Given the description of an element on the screen output the (x, y) to click on. 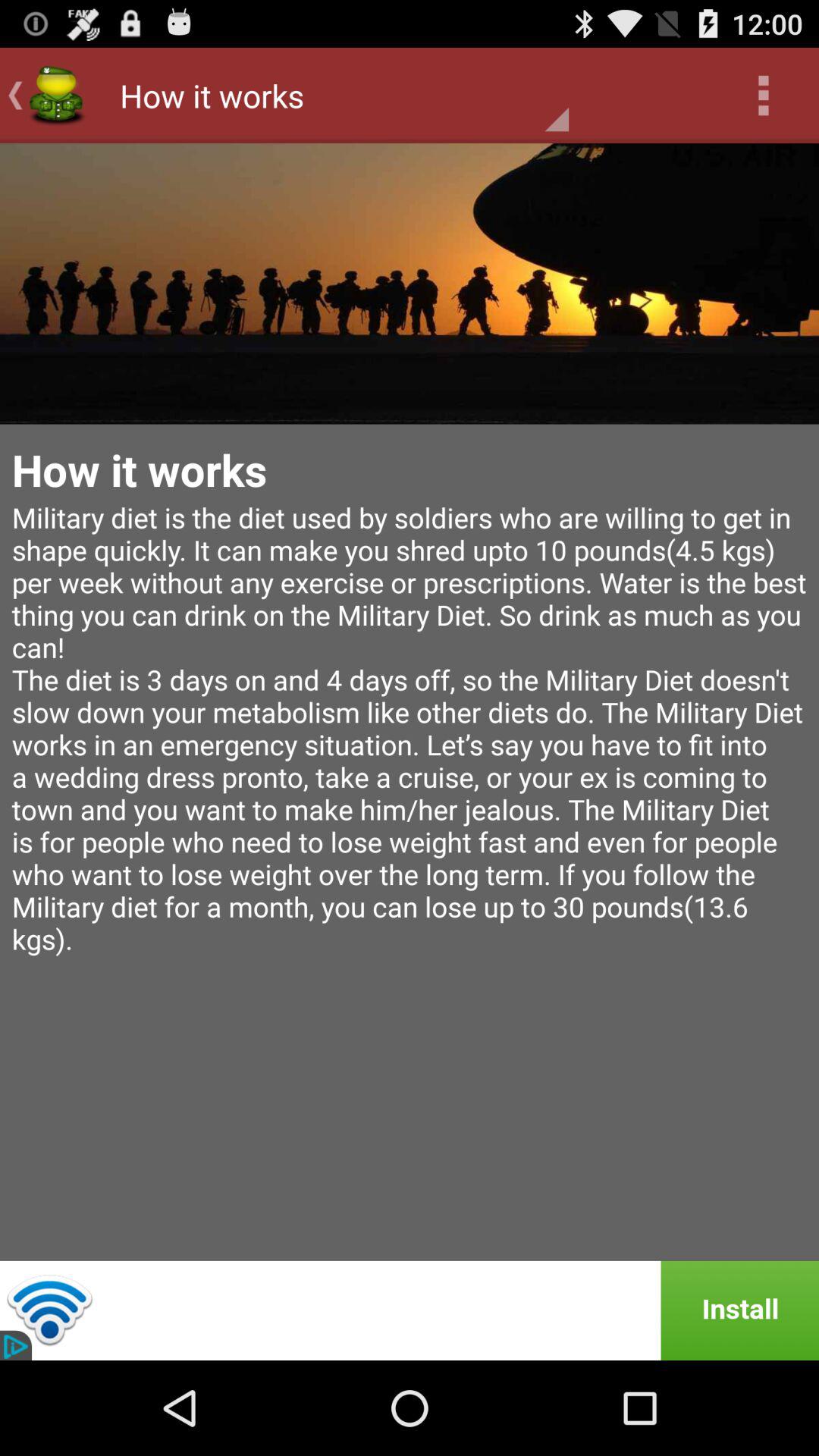
open advertisement (409, 1310)
